Given the description of an element on the screen output the (x, y) to click on. 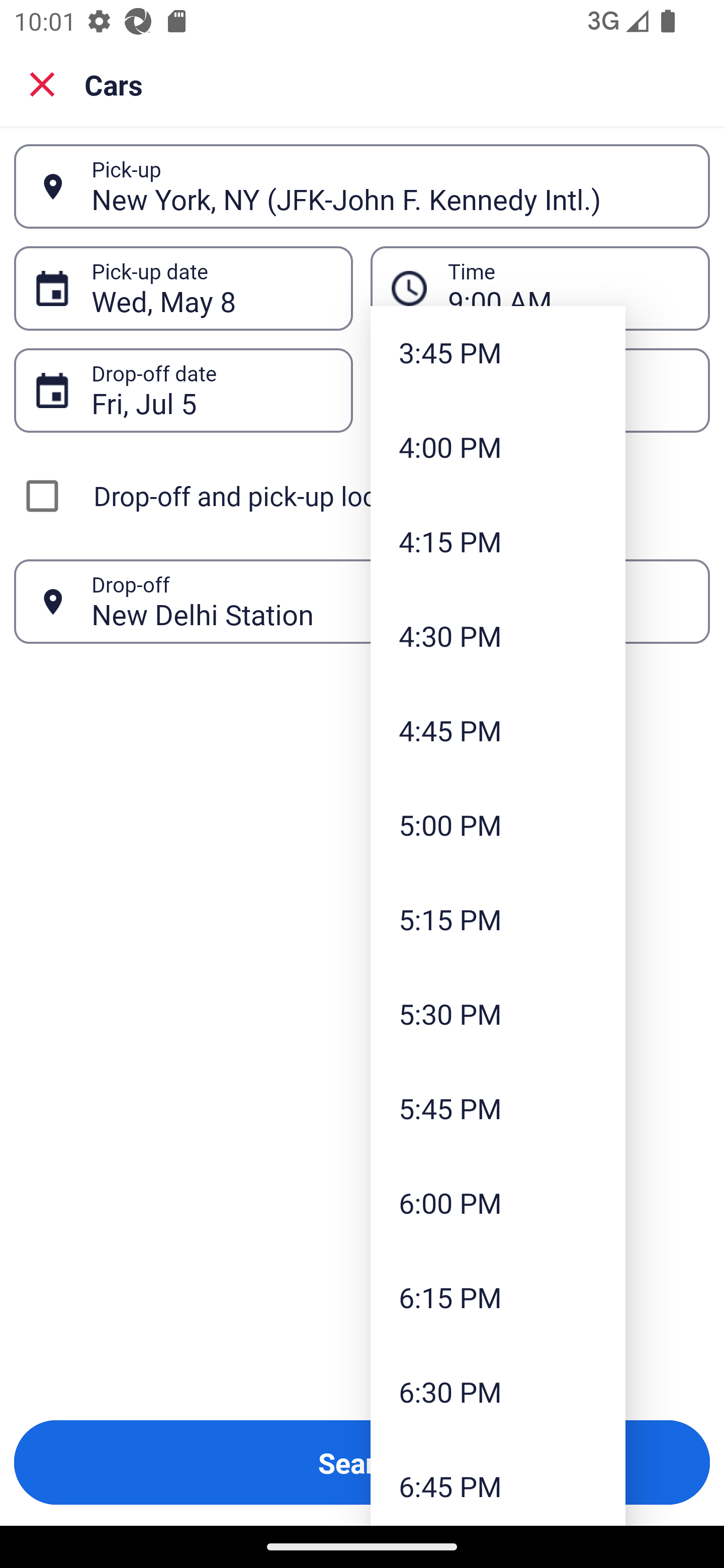
3:45 PM (497, 352)
4:00 PM (497, 446)
4:15 PM (497, 540)
4:30 PM (497, 635)
4:45 PM (497, 730)
5:00 PM (497, 824)
5:15 PM (497, 918)
5:30 PM (497, 1013)
5:45 PM (497, 1108)
6:00 PM (497, 1202)
6:15 PM (497, 1296)
6:30 PM (497, 1391)
6:45 PM (497, 1482)
